Given the description of an element on the screen output the (x, y) to click on. 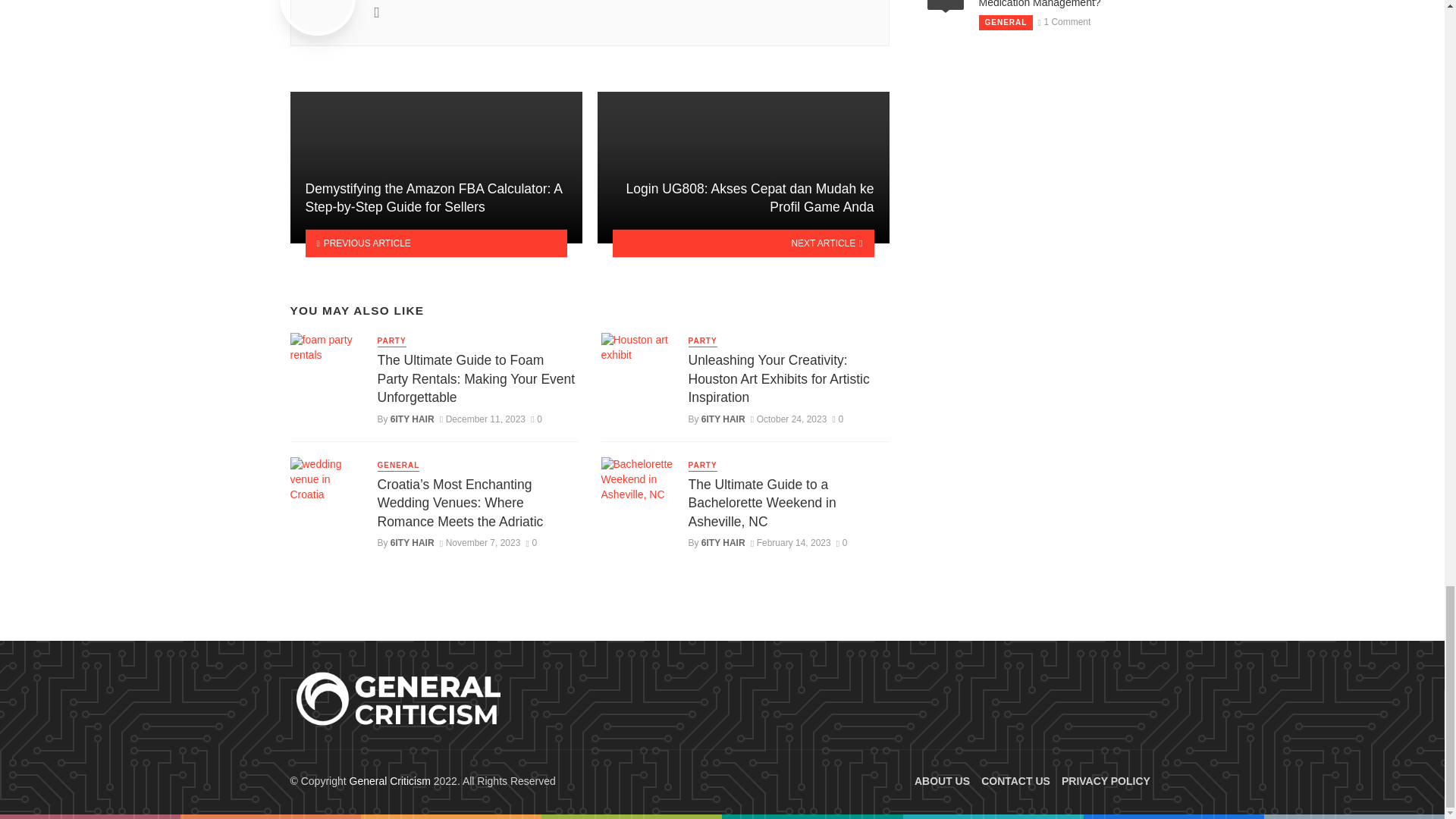
0 Comments (531, 542)
February 14, 2023 at 11:52 am (791, 542)
PARTY (391, 341)
0 Comments (536, 419)
PREVIOUS ARTICLE (434, 243)
0 (531, 542)
6ITY HAIR (411, 419)
NEXT ARTICLE (742, 243)
0 Comments (841, 542)
